Given the description of an element on the screen output the (x, y) to click on. 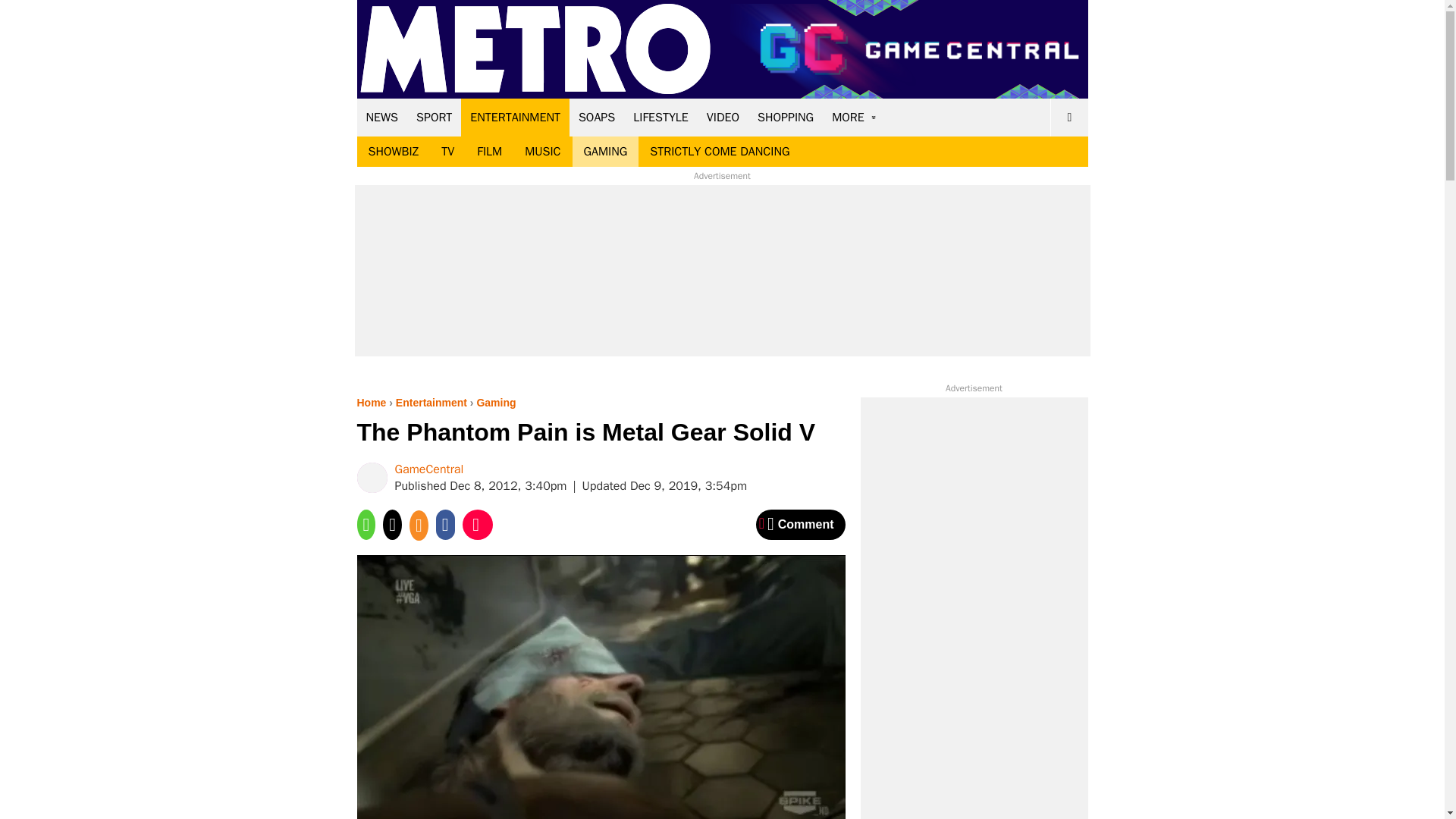
GAMING (605, 151)
LIFESTYLE (660, 117)
SHOWBIZ (392, 151)
SOAPS (596, 117)
TV (447, 151)
MUSIC (542, 151)
NEWS (381, 117)
SPORT (434, 117)
STRICTLY COME DANCING (719, 151)
FILM (489, 151)
